Given the description of an element on the screen output the (x, y) to click on. 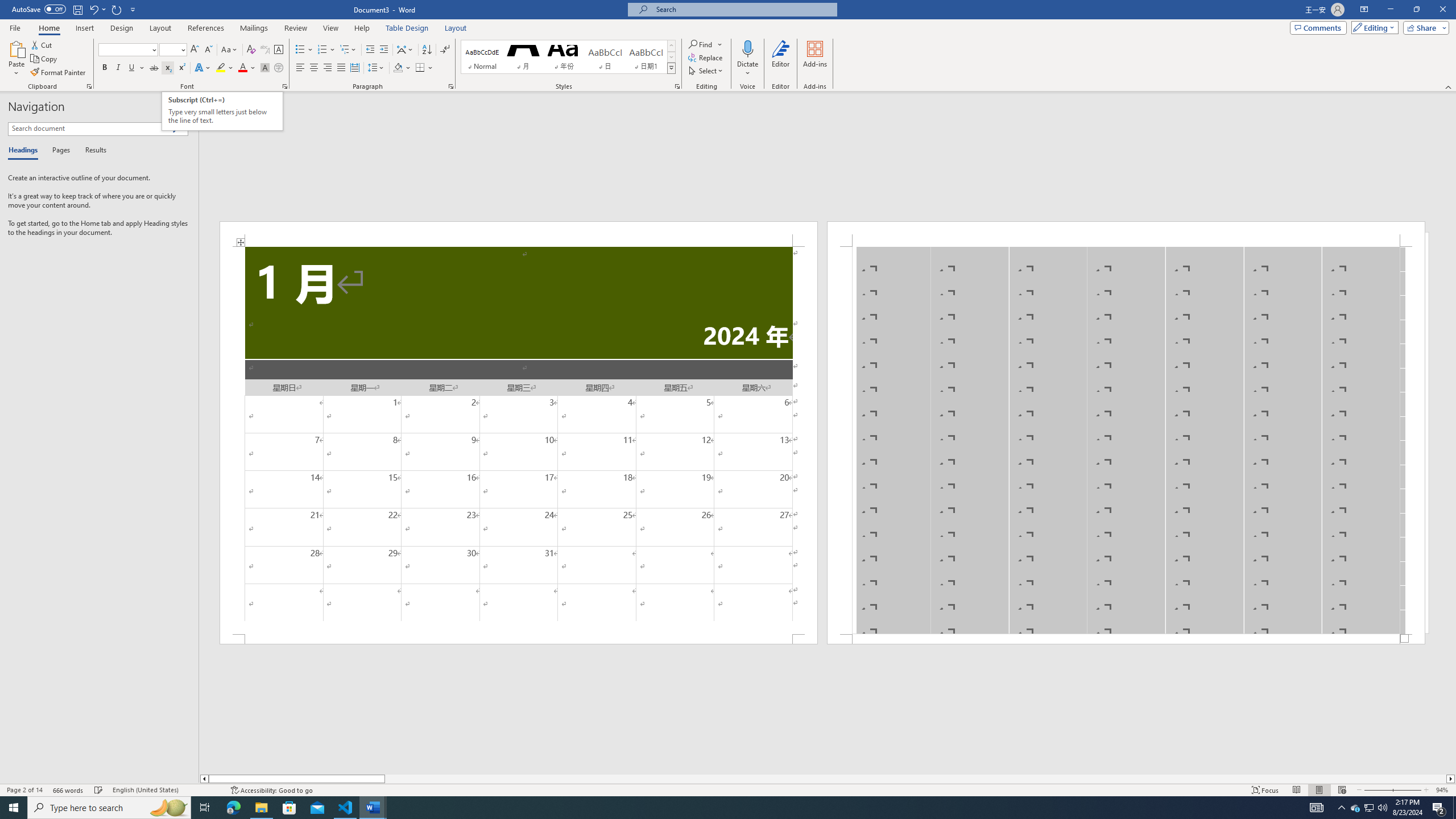
Footer -Section 1- (1126, 638)
Page 2 content (1126, 439)
Spelling and Grammar Check Checking (98, 790)
Results (91, 150)
Copy (45, 58)
Increase Indent (383, 49)
